Given the description of an element on the screen output the (x, y) to click on. 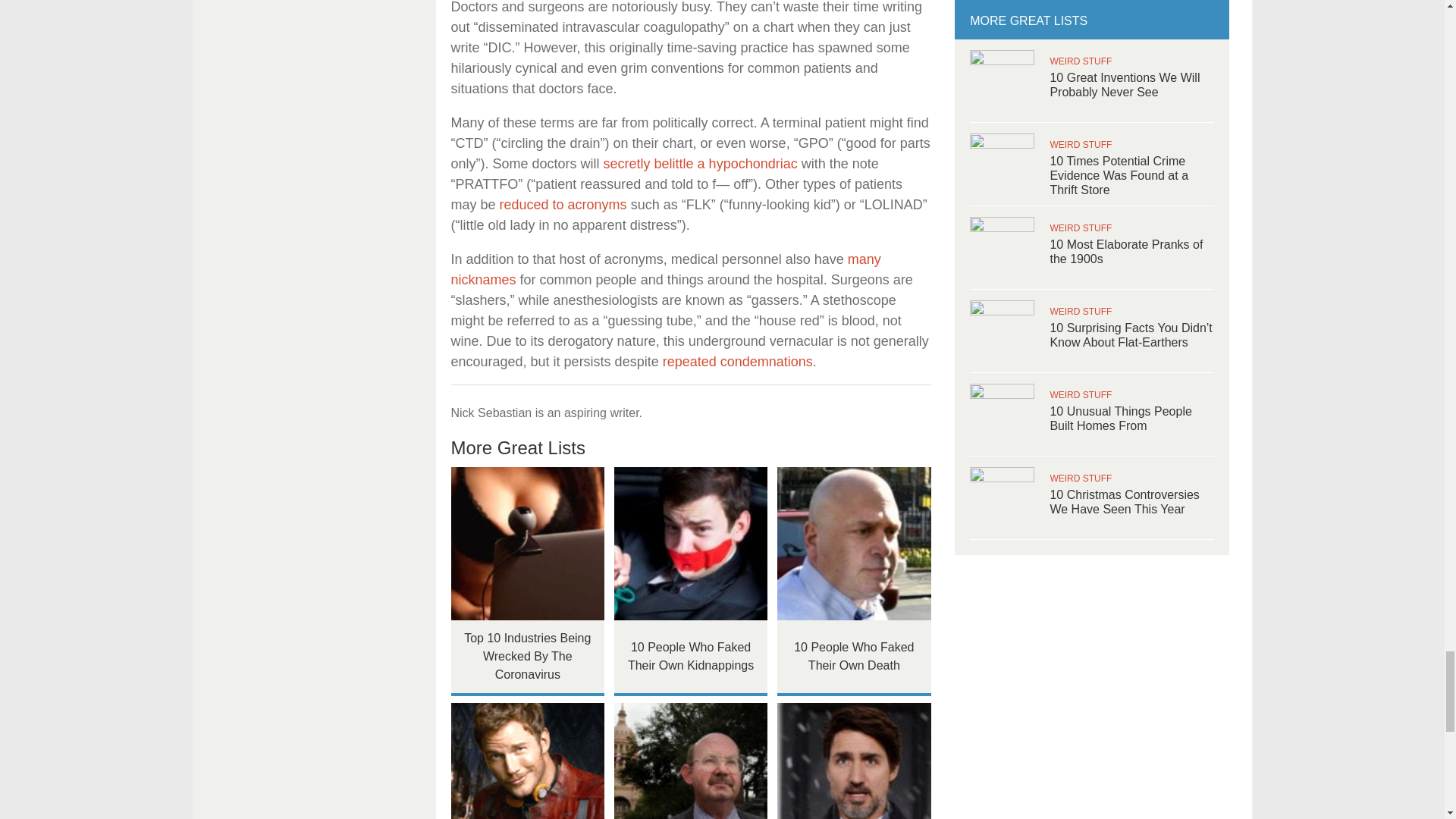
10 People Who Faked Their Own Kidnappings (691, 543)
10 People Who Faked Their Own Death (854, 543)
Top 10 Industries Being Wrecked By The Coronavirus (526, 543)
